Given the description of an element on the screen output the (x, y) to click on. 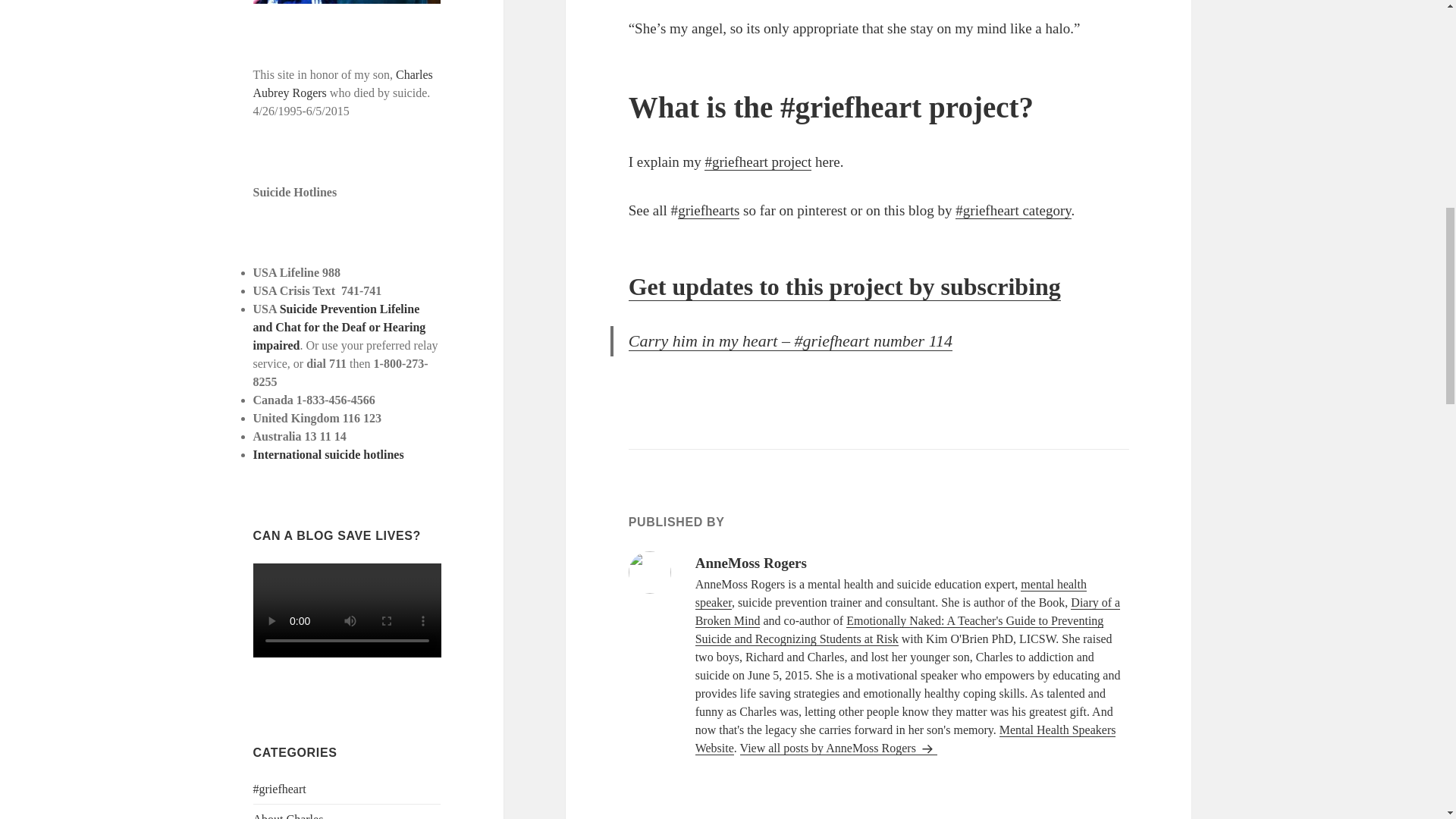
Charles Aubrey Rogers (342, 83)
International suicide hotlines (328, 454)
